Given the description of an element on the screen output the (x, y) to click on. 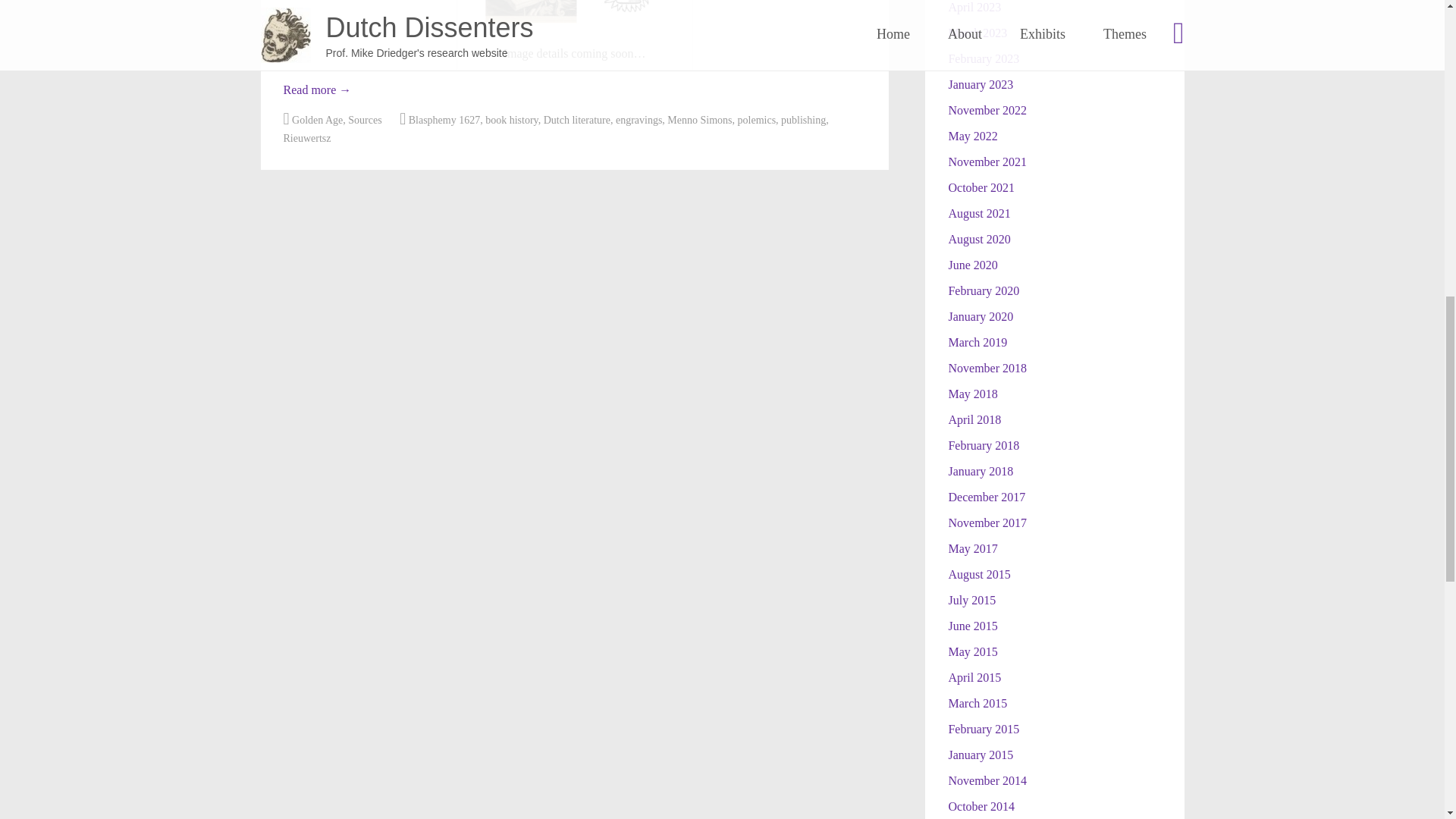
Rieuwertsz (307, 138)
January 2023 (980, 83)
Sources (364, 120)
Blasphemy 1627 (444, 120)
February 2023 (983, 58)
book history (510, 120)
May 2022 (972, 135)
Dutch literature (576, 120)
March 2023 (977, 32)
April 2023 (974, 6)
